Given the description of an element on the screen output the (x, y) to click on. 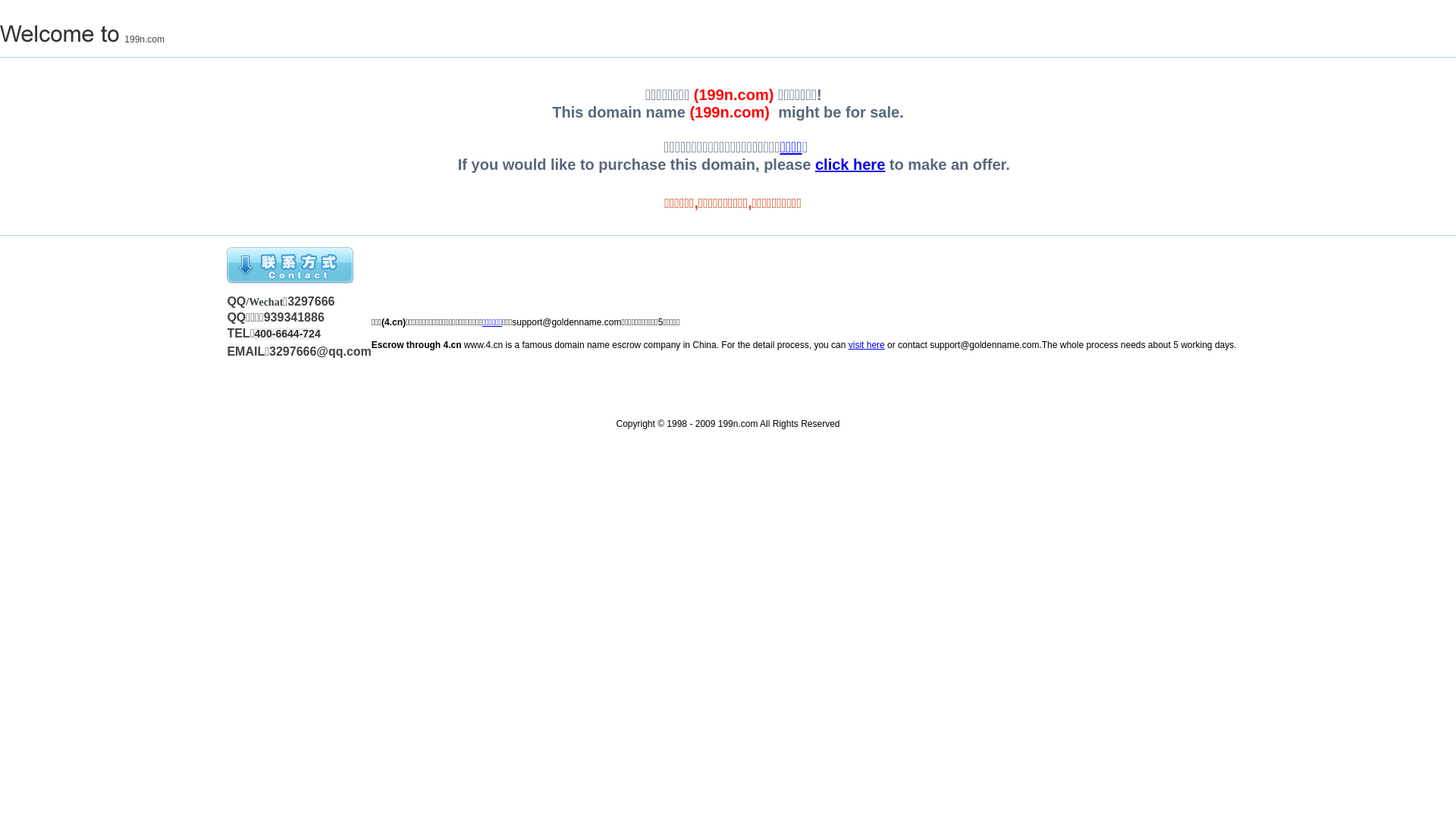
click here Element type: text (849, 164)
visit here Element type: text (866, 344)
